Given the description of an element on the screen output the (x, y) to click on. 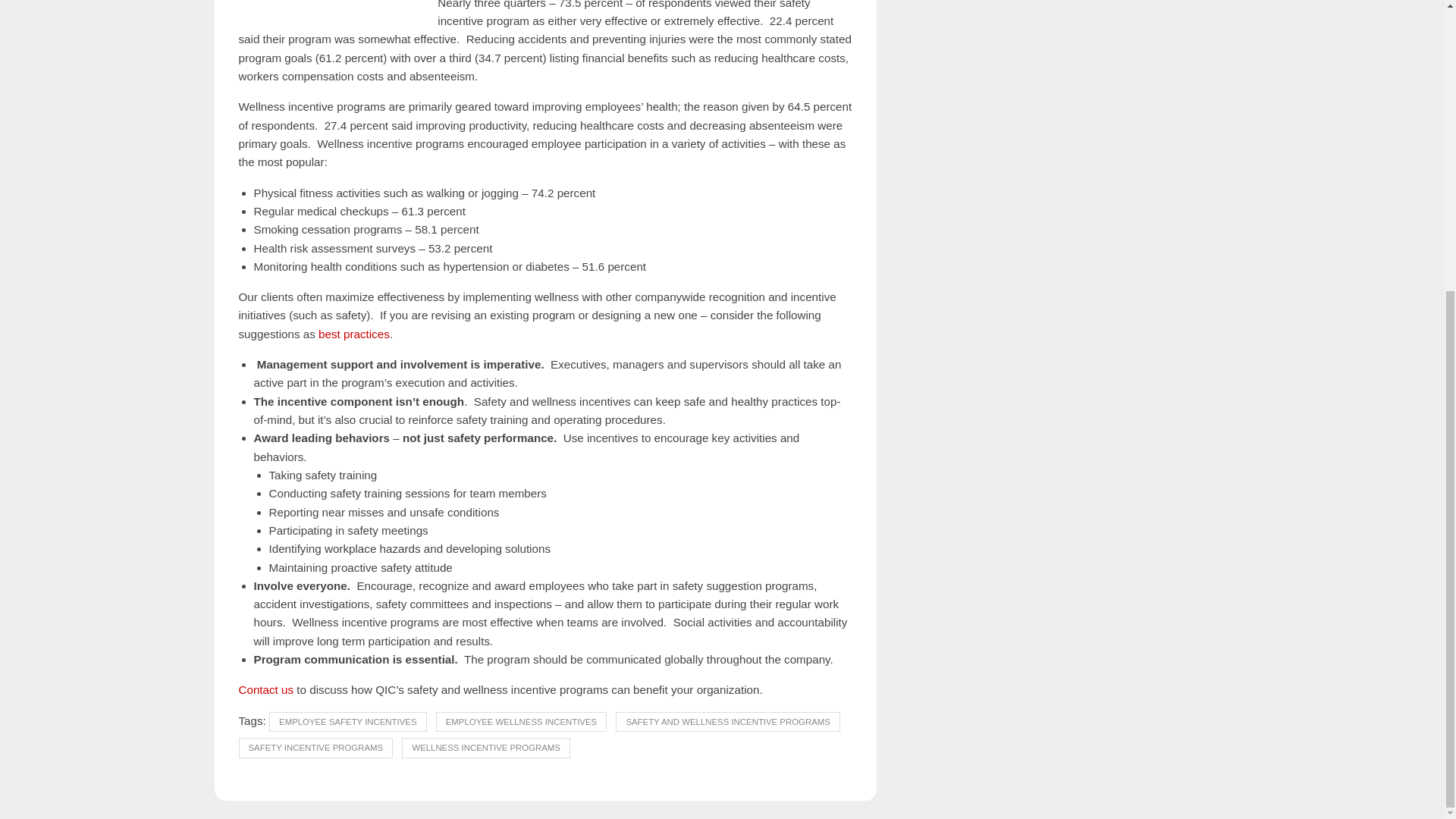
safety and wellness incentive programs (329, 8)
